Given the description of an element on the screen output the (x, y) to click on. 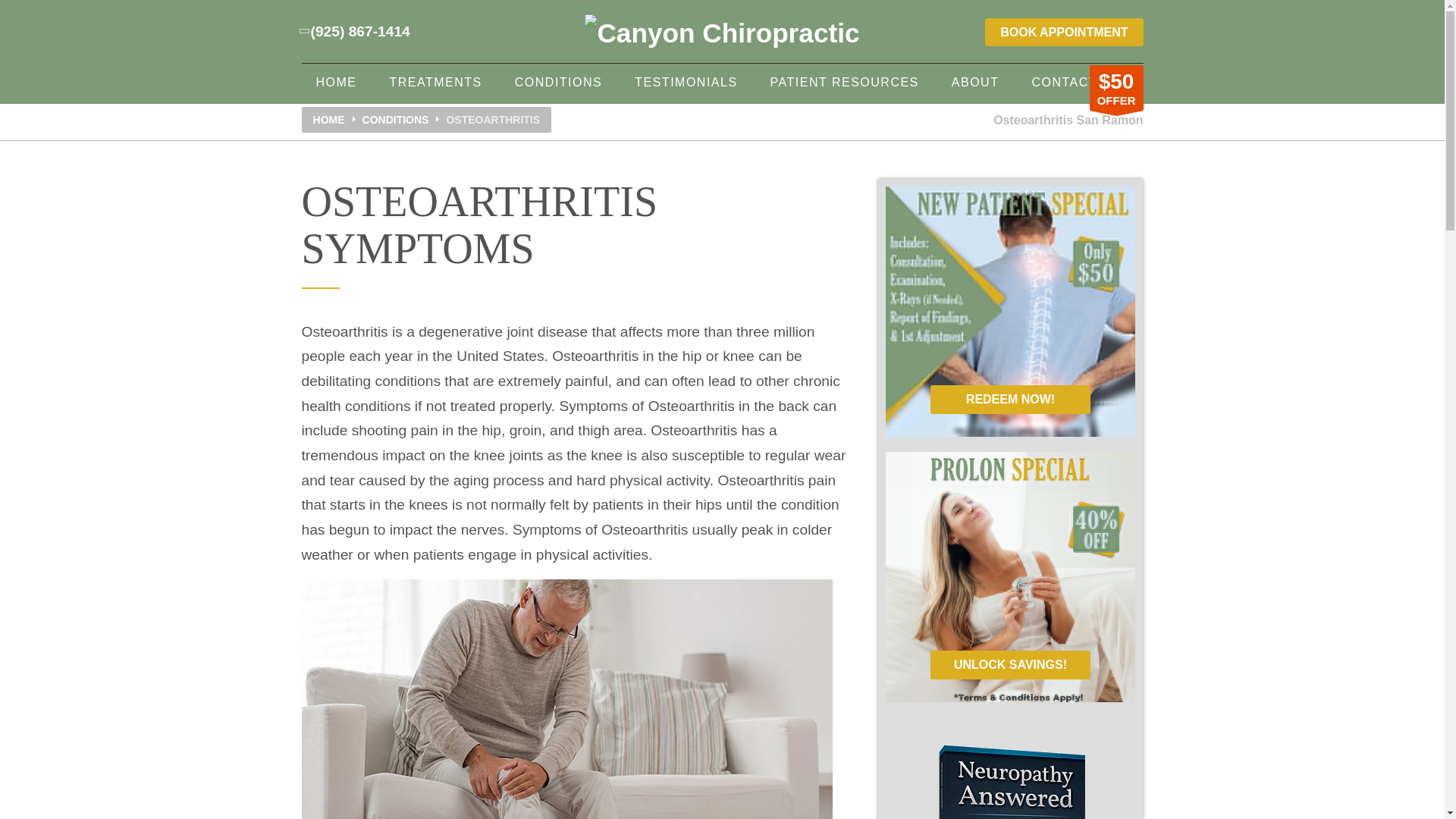
PATIENT RESOURCES (844, 82)
TREATMENTS (435, 82)
ABOUT (975, 82)
TESTIMONIALS (685, 82)
Click Here To Redeem This Offer! (1009, 399)
HOME (336, 82)
BOOK APPOINTMENT (1063, 32)
Click to redeem offer (1115, 87)
CONDITIONS (557, 82)
Click Here To Redeem This Offer! (1009, 664)
CONTACT (1064, 82)
